Given the description of an element on the screen output the (x, y) to click on. 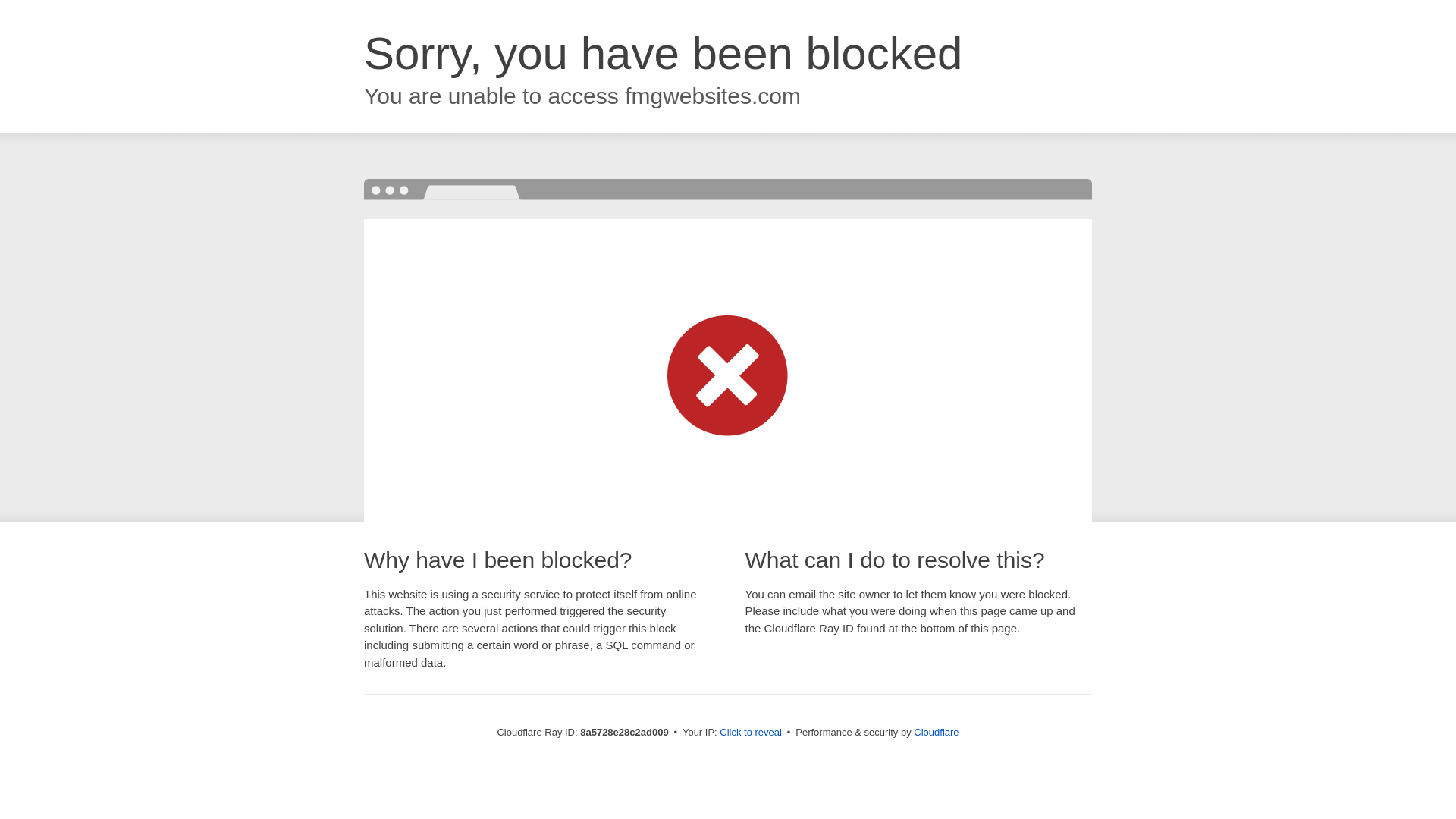
Cloudflare (936, 731)
Click to reveal (750, 732)
